Given the description of an element on the screen output the (x, y) to click on. 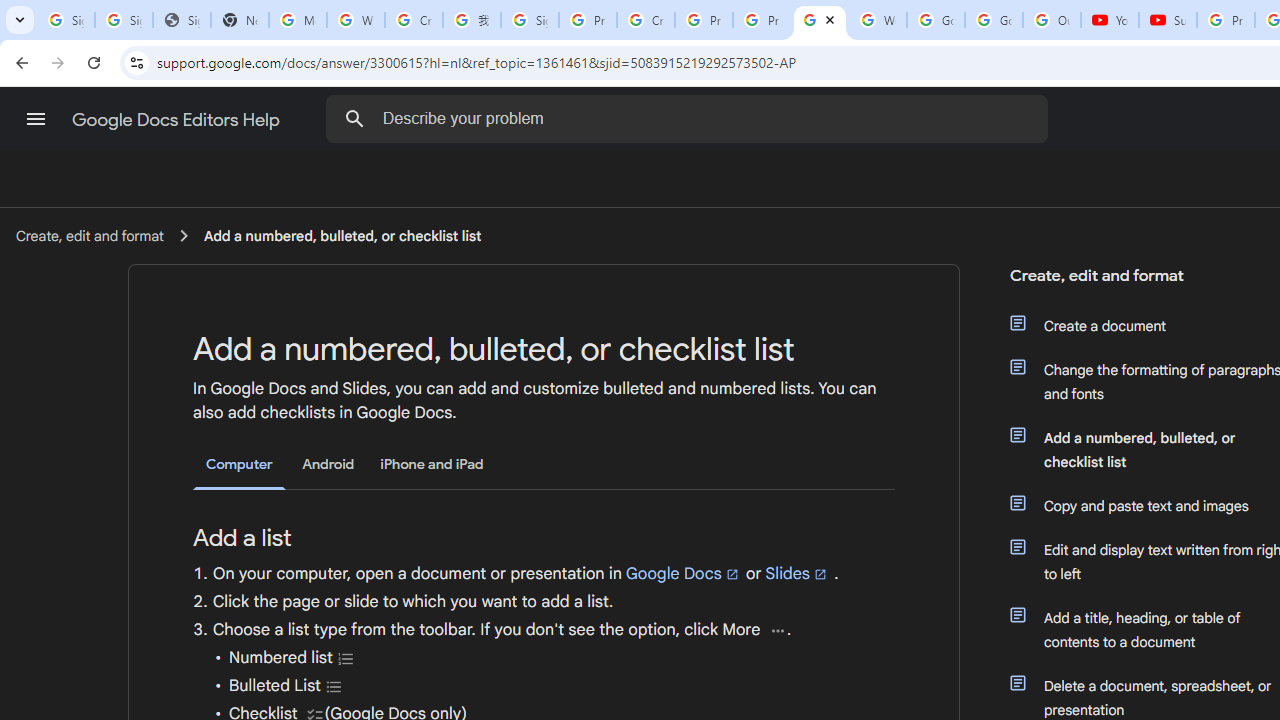
YouTube (1110, 20)
Google Docs (683, 573)
Numbered list (345, 658)
Create your Google Account (645, 20)
Bulleted List (334, 686)
Slides (797, 573)
Google Docs Editors Help (177, 119)
